Given the description of an element on the screen output the (x, y) to click on. 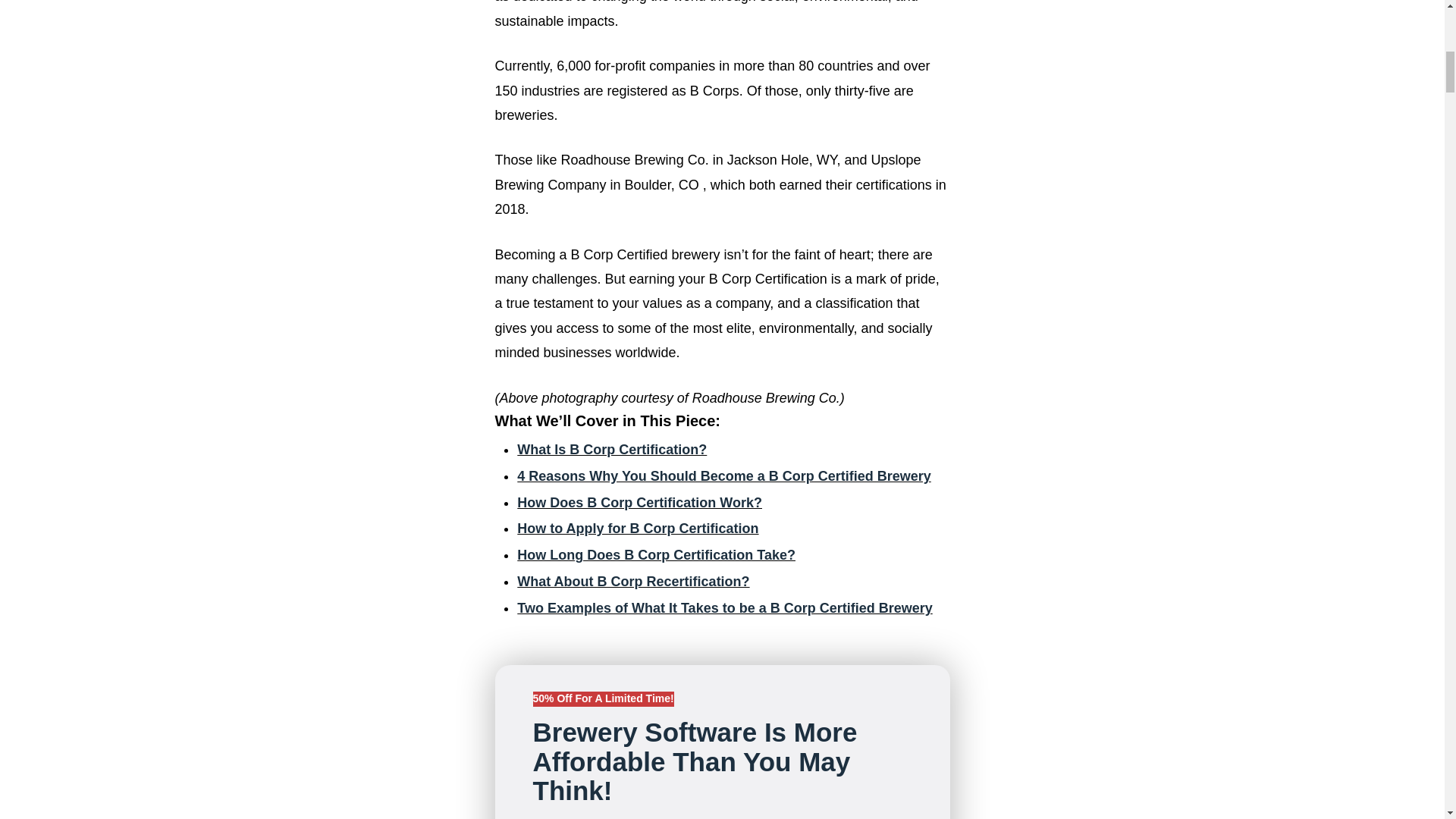
How to Apply for B Corp Certification (637, 528)
What Is B Corp Certification? (611, 449)
What About B Corp Recertification? (632, 581)
How Long Does B Corp Certification Take? (655, 554)
4 Reasons Why You Should Become a B Corp Certified Brewery (723, 476)
How Does B Corp Certification Work? (638, 501)
